Given the description of an element on the screen output the (x, y) to click on. 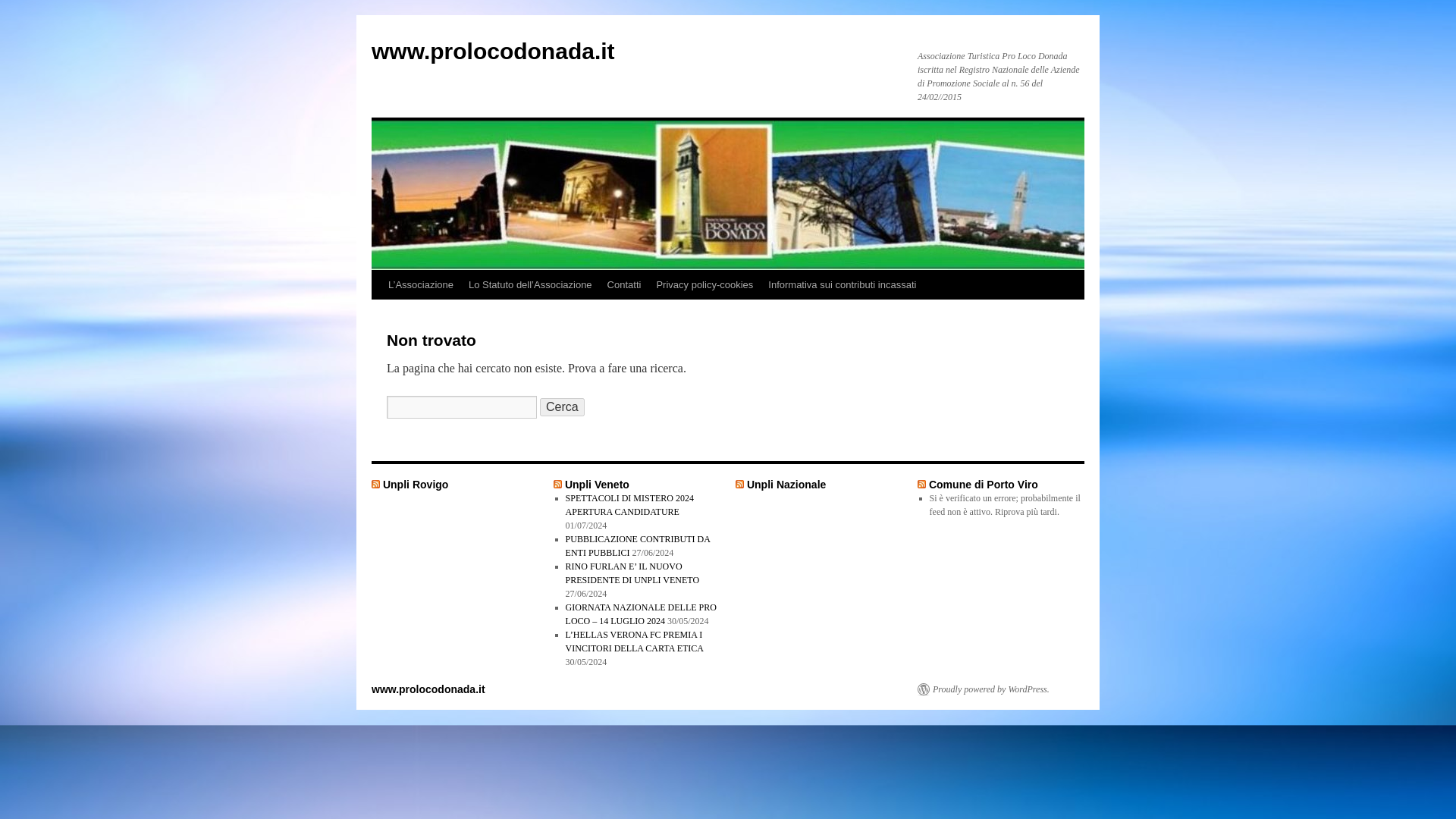
www.prolocodonada.it (492, 50)
Unpli Nazionale (785, 484)
Contatti (624, 285)
Unpli Rovigo (415, 484)
Cerca (562, 407)
Privacy policy-cookies (703, 285)
Informativa sui contributi incassati (841, 285)
PUBBLICAZIONE CONTRIBUTI DA ENTI PUBBLICI (638, 545)
SPETTACOLI DI MISTERO 2024 APERTURA CANDIDATURE (630, 504)
Unpli Veneto (596, 484)
